Given the description of an element on the screen output the (x, y) to click on. 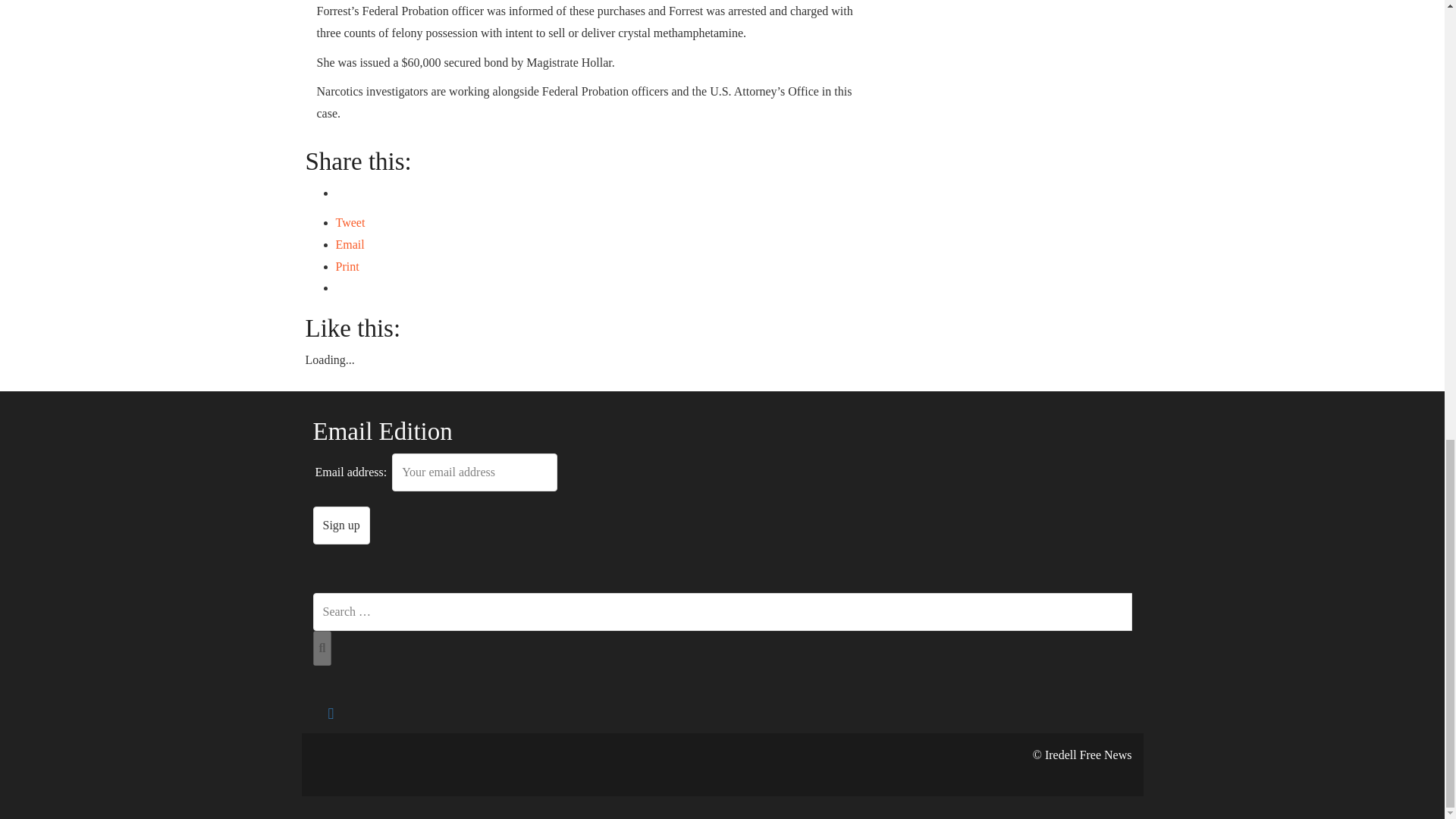
Email (349, 244)
Tweet (349, 222)
Click to print (346, 266)
Print (346, 266)
Click to email a link to a friend (349, 244)
Facebook (331, 714)
Sign up (341, 525)
Facebook (331, 714)
Sign up (341, 525)
